Given the description of an element on the screen output the (x, y) to click on. 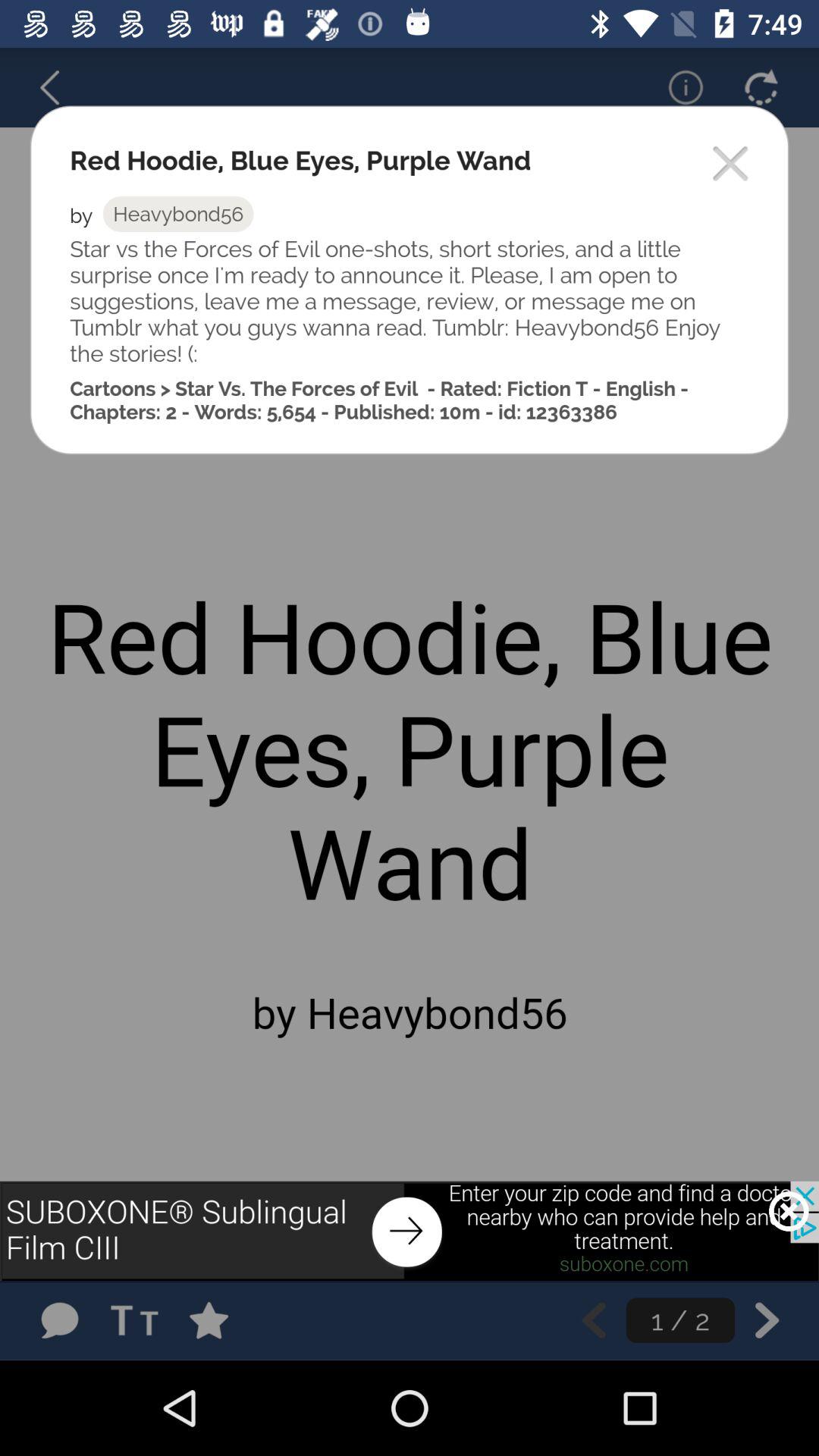
add story to favorites (224, 1320)
